Given the description of an element on the screen output the (x, y) to click on. 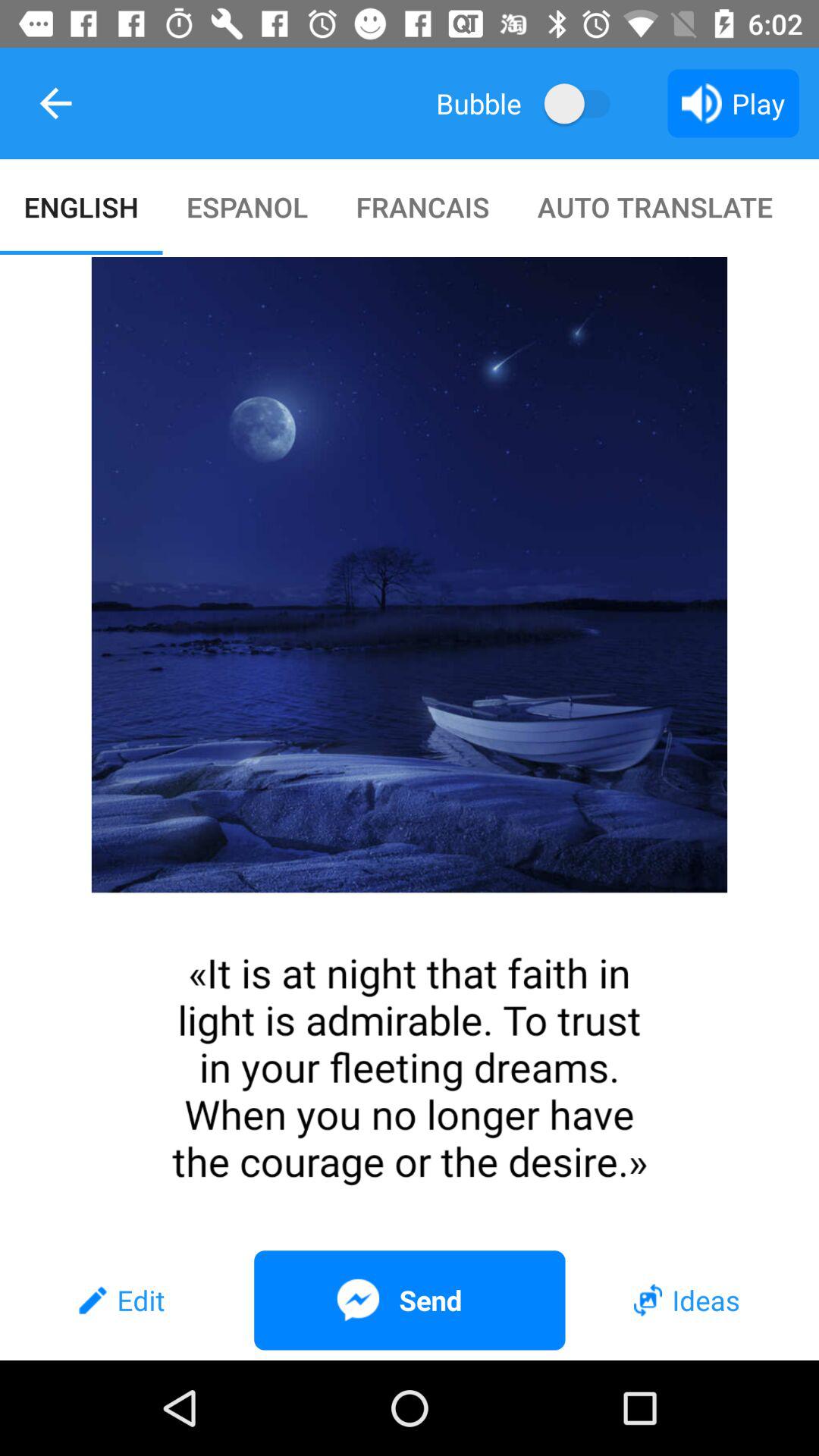
turn on item above english icon (55, 103)
